Given the description of an element on the screen output the (x, y) to click on. 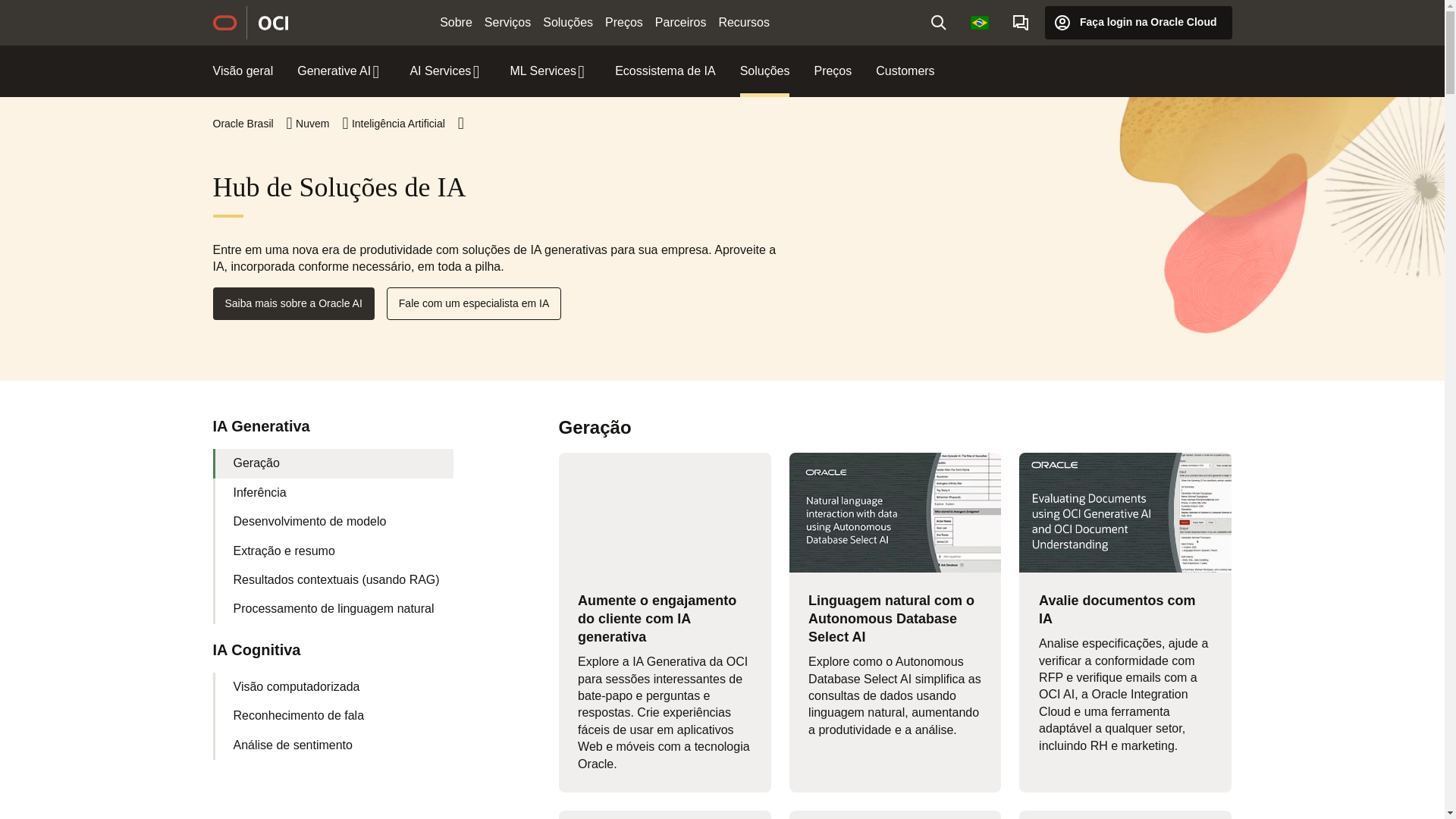
Country (978, 22)
Recursos (743, 22)
Parceiros (681, 22)
Sobre (456, 22)
Entre em Contato (1020, 22)
